Given the description of an element on the screen output the (x, y) to click on. 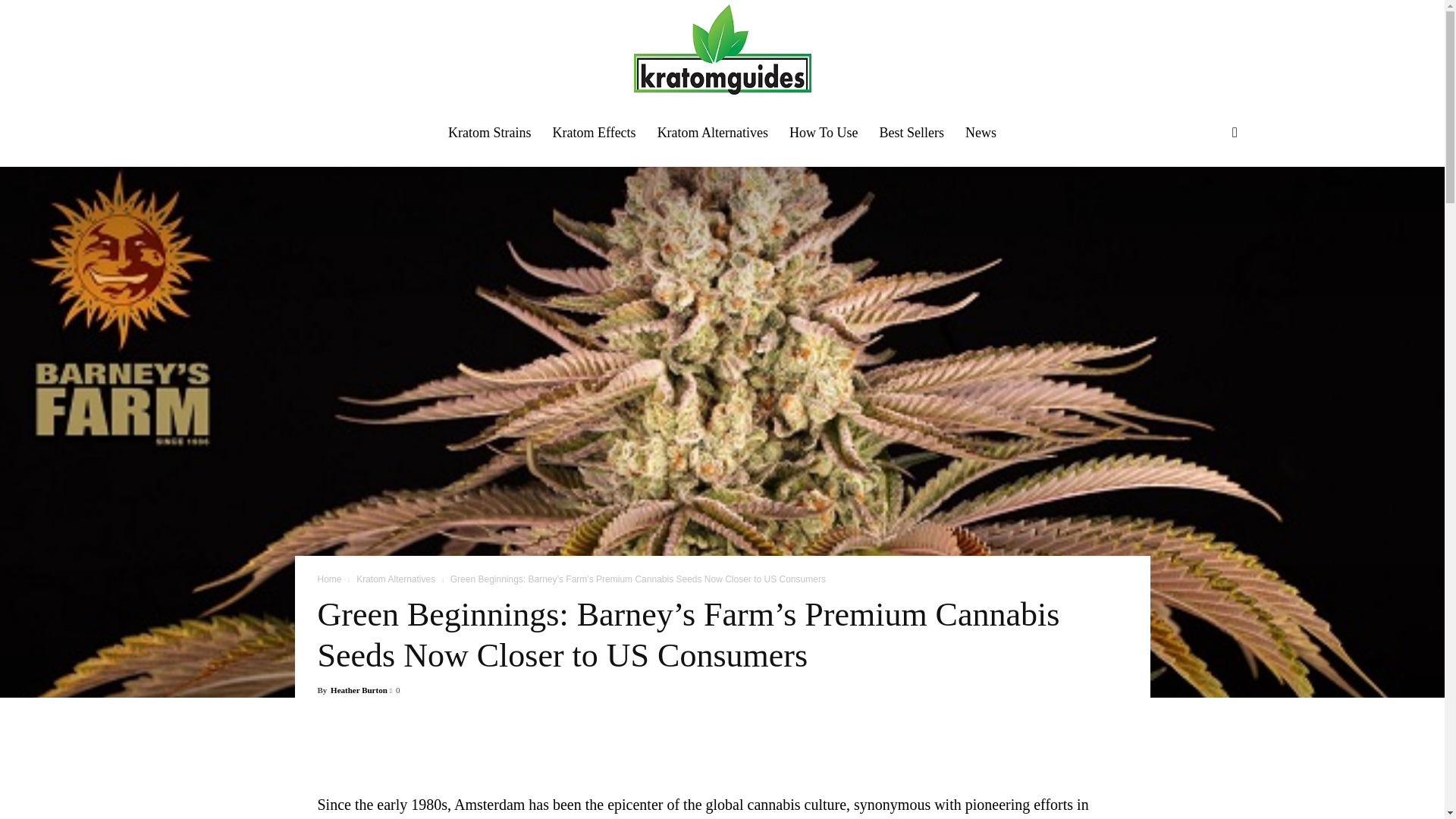
Search (1210, 209)
Kratom Alternatives (712, 132)
Home (328, 579)
Heather Burton (358, 689)
Kratomguides.com (721, 49)
How To Use (822, 132)
Kratom Alternatives (395, 579)
Kratom Strains (489, 132)
View all posts in Kratom Alternatives (395, 579)
Kratom Effects (593, 132)
